Given the description of an element on the screen output the (x, y) to click on. 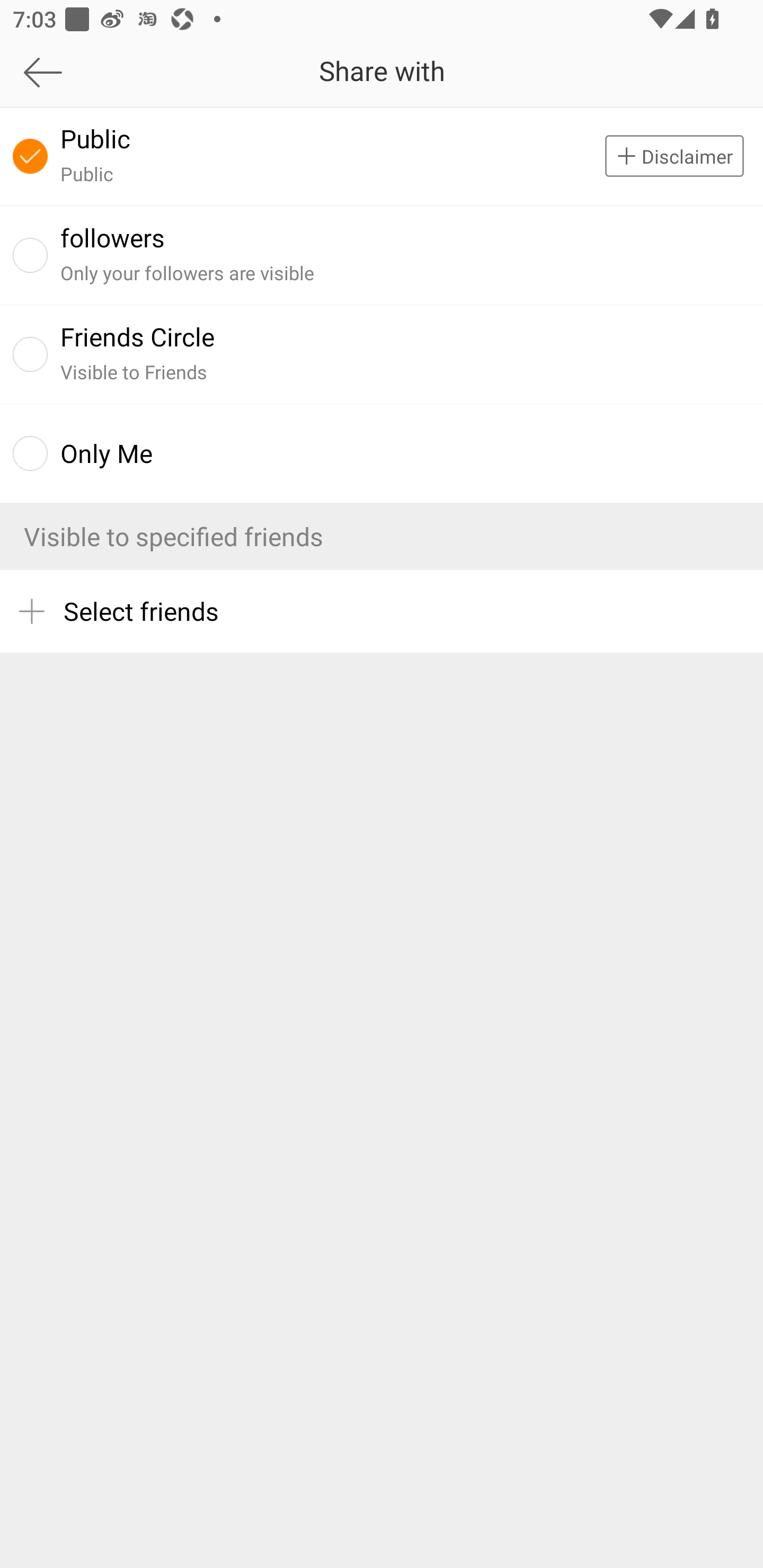
Back (100, 71)
Public Public Disclaimer (381, 155)
Disclaimer (684, 155)
followers Only your followers are visible (381, 254)
Friends Circle Visible to Friends (381, 353)
Only Me (381, 453)
Visible to specified friends (381, 536)
Select friends (381, 611)
